Given the description of an element on the screen output the (x, y) to click on. 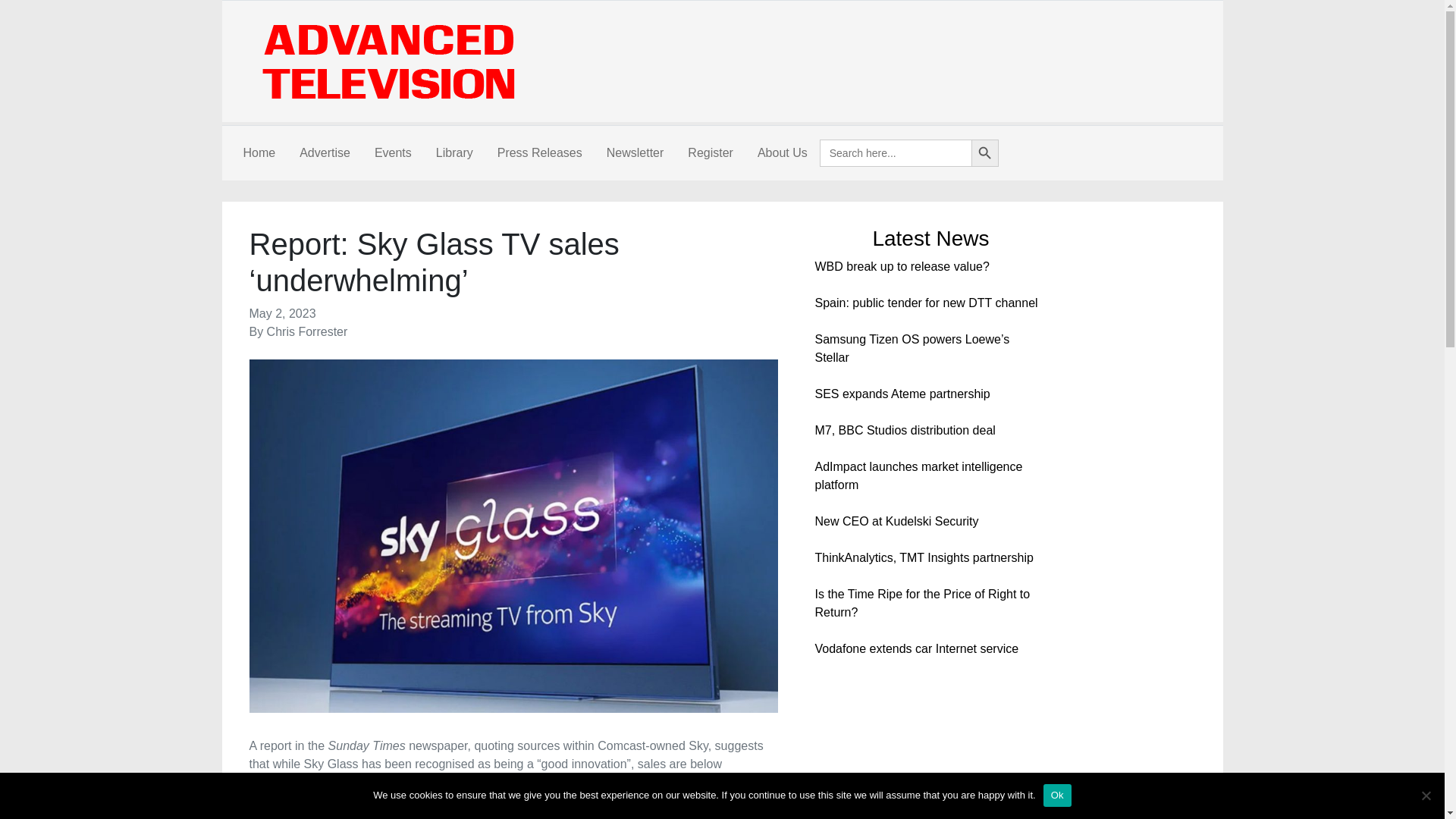
Events (392, 153)
Library (453, 153)
New CEO at Kudelski Security (895, 521)
ThinkAnalytics, TMT Insights partnership (922, 557)
Newsletter (635, 153)
Is the Time Ripe for the Price of Right to Return? (921, 603)
Vodafone extends car Internet service (915, 648)
SES expands Ateme partnership (901, 393)
AdImpact launches market intelligence platform (917, 475)
Home (258, 153)
Search Button (984, 153)
About Us (782, 153)
Register (710, 153)
Press Releases (539, 153)
No (1425, 795)
